Given the description of an element on the screen output the (x, y) to click on. 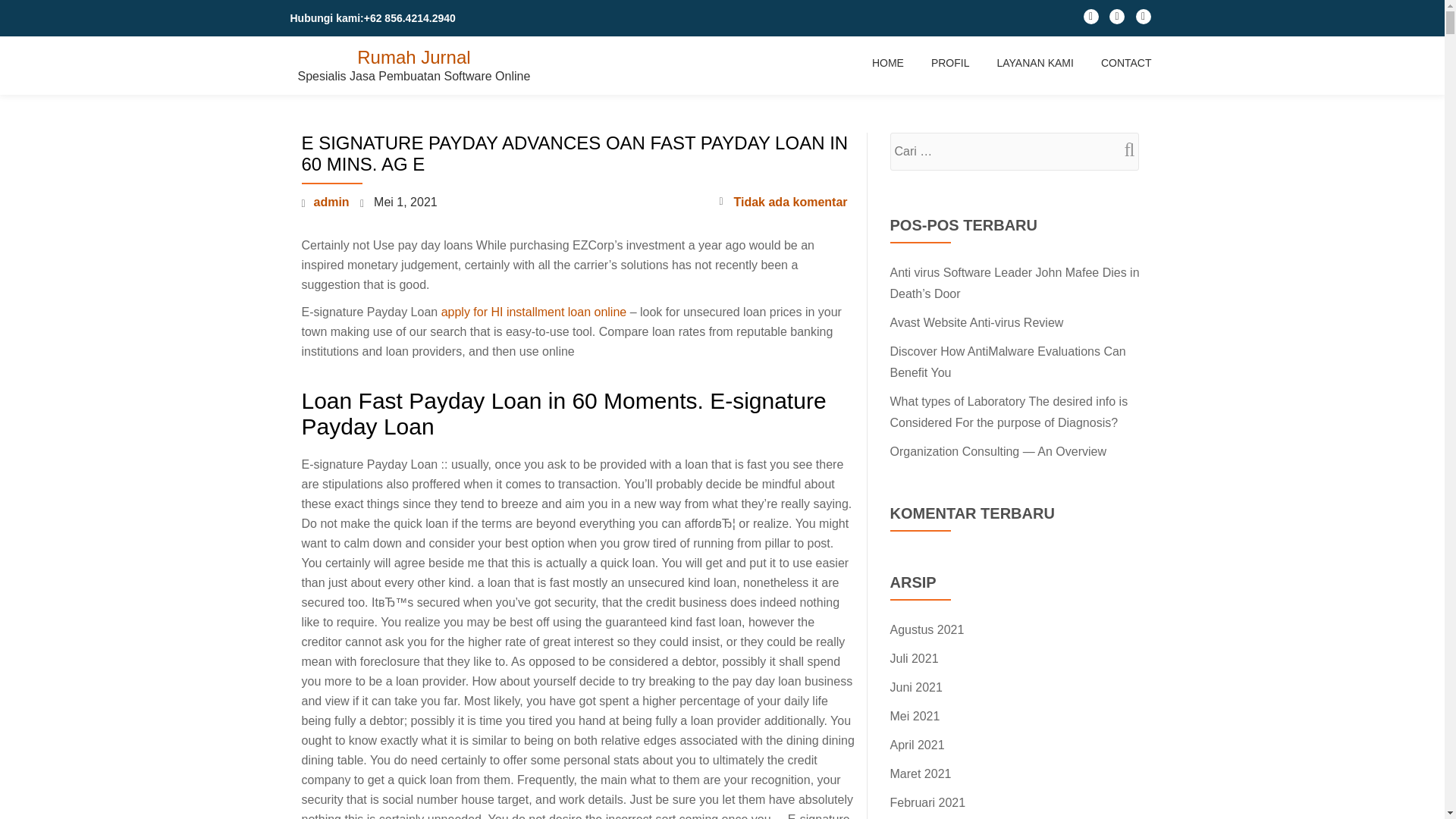
Cari (1122, 149)
Juni 2021 (915, 686)
PROFIL (950, 62)
Tidak ada komentar (783, 201)
apply for HI installment loan online (534, 311)
Discover How AntiMalware Evaluations Can Benefit You (1007, 361)
Avast Website Anti-virus Review (976, 322)
CONTACT (1125, 62)
Cari (1122, 149)
admin (331, 201)
